Given the description of an element on the screen output the (x, y) to click on. 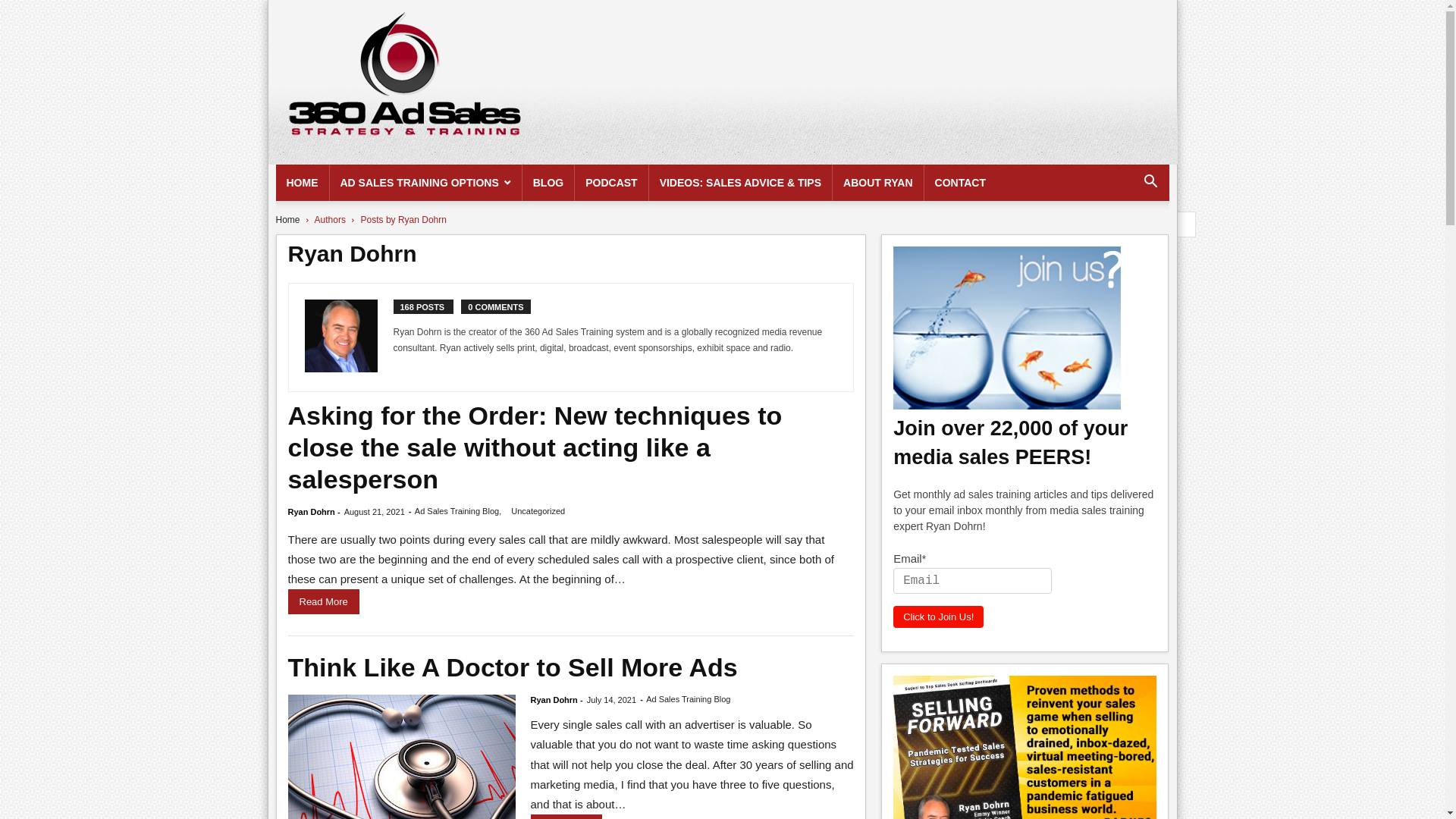
Ryan Dohrn Element type: text (311, 511)
Ad Sales Training Blog Element type: text (688, 698)
Think Like A Doctor to Sell More Ads Element type: text (512, 666)
AD SALES TRAINING OPTIONS Element type: text (424, 182)
Search Element type: text (1126, 243)
Uncategorized Element type: text (537, 510)
Home Element type: text (288, 219)
HOME Element type: text (302, 182)
CONTACT Element type: text (960, 182)
Click to Join Us! Element type: text (938, 616)
VIDEOS: SALES ADVICE & TIPS Element type: text (740, 182)
Ryan Dohrn Element type: text (553, 699)
ABOUT RYAN Element type: text (877, 182)
BLOG Element type: text (548, 182)
Ad Sales Training Blog Element type: text (456, 510)
PODCAST Element type: text (610, 182)
Read More Element type: text (323, 601)
